Given the description of an element on the screen output the (x, y) to click on. 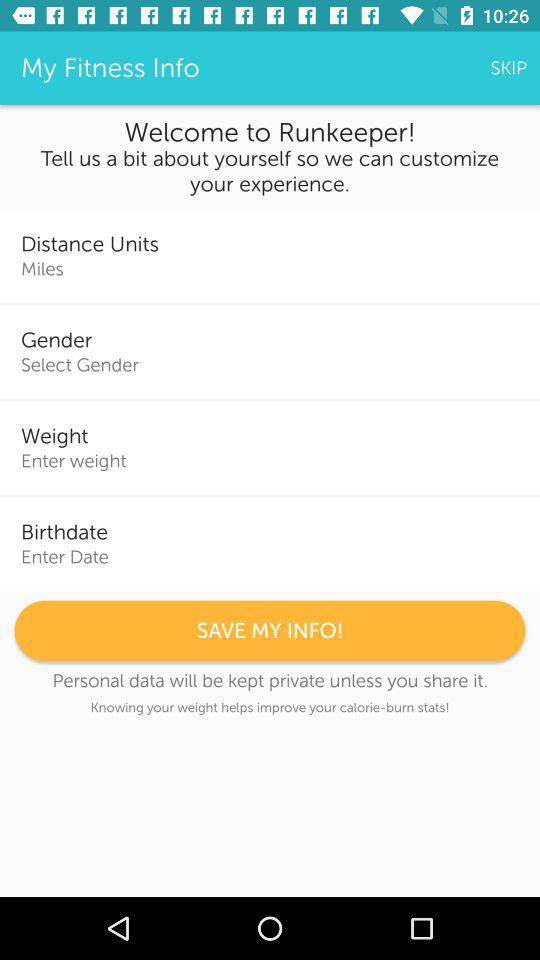
press item above welcome to runkeeper! icon (508, 67)
